Given the description of an element on the screen output the (x, y) to click on. 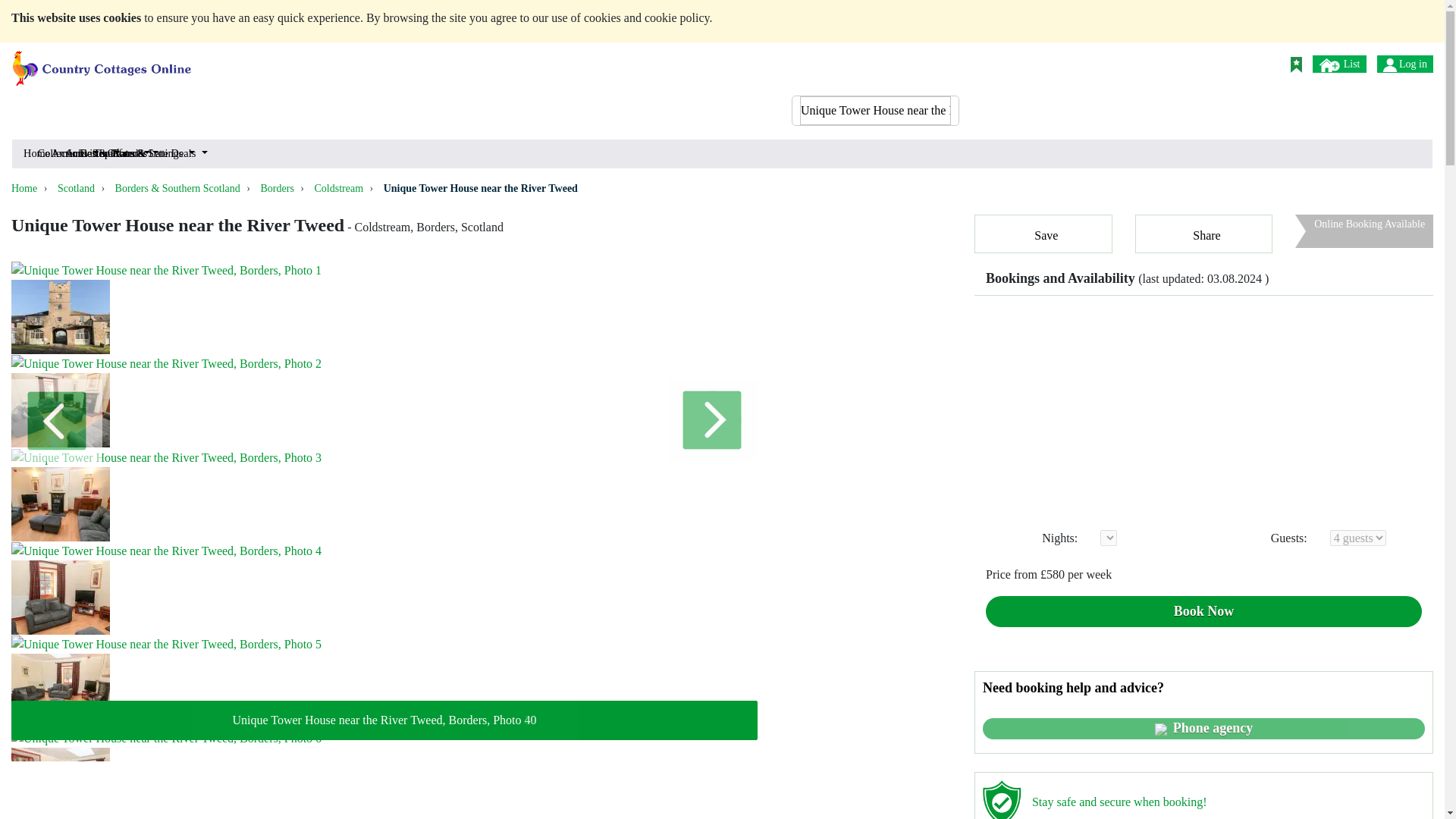
country cottages online (102, 62)
search (937, 62)
Unique Tower House near the River Tweed, Borders, Photo 3 (166, 457)
Unique Tower House near the River Tweed, Borders, Photo 6 (166, 738)
Unique Tower House near the River Tweed - thumbnail photo 6 (60, 783)
Unique Tower House near the River Tweed - thumbnail photo 2 (60, 410)
Log in (1404, 63)
Unique Tower House near the River Tweed - thumbnail photo 3 (60, 503)
List (1339, 63)
Unique Tower House near the River Tweed, Borders, Photo 5 (166, 644)
Unique Tower House near the River Tweed, Borders, Photo 2 (166, 363)
Log in (1389, 65)
Unique Tower House near the River Tweed, Borders, Photo 4 (166, 551)
Unique Tower House near the River Tweed, Borders, Photo 1 (166, 270)
Unique Tower House near the River Tweed - thumbnail photo 5 (60, 690)
